Given the description of an element on the screen output the (x, y) to click on. 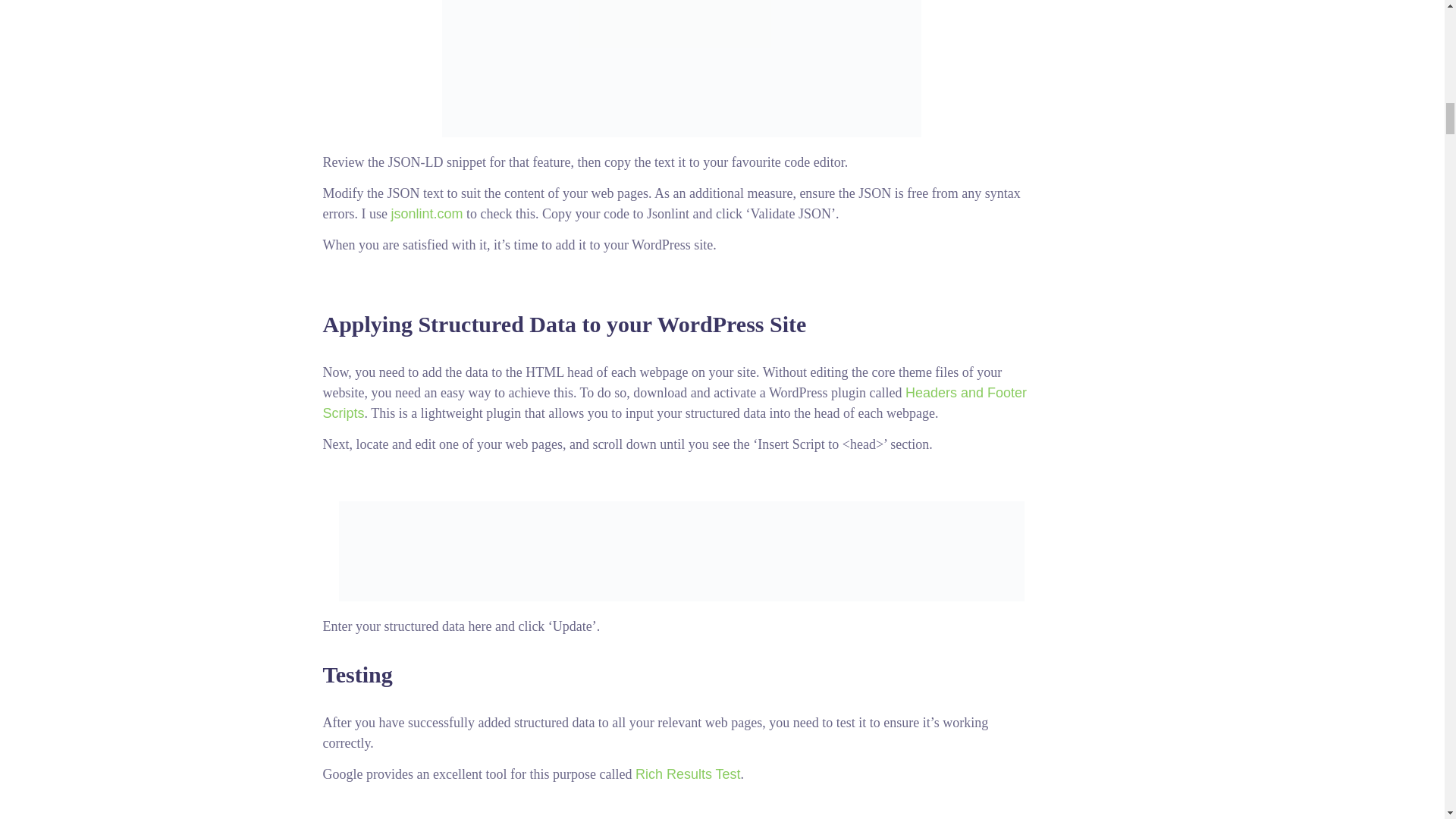
jsonlint.com (426, 213)
Rich Results Test (687, 774)
Headers and Footer Scripts (675, 402)
JSON (681, 68)
Insert headers and footers (682, 551)
